Given the description of an element on the screen output the (x, y) to click on. 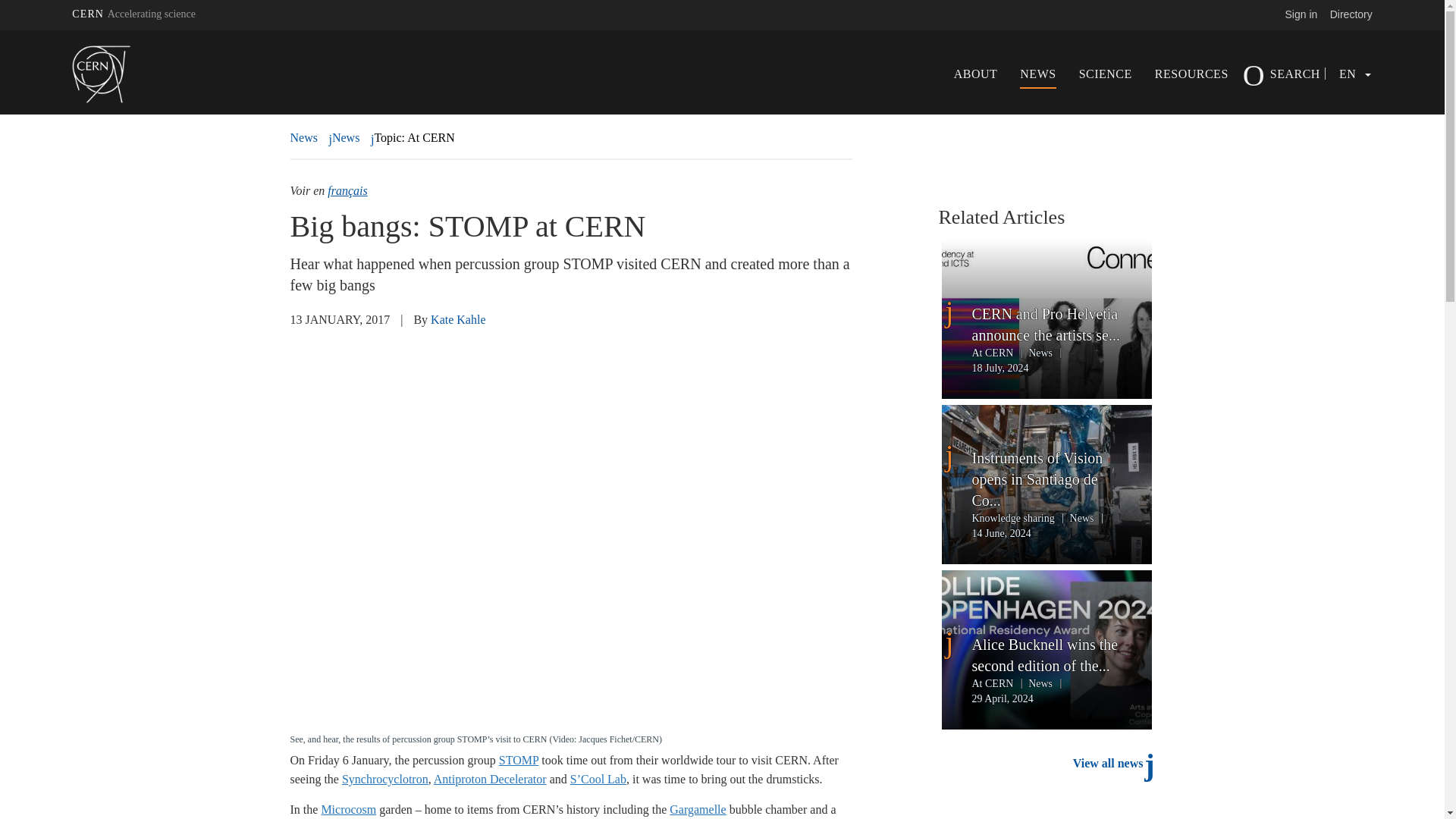
Directory (1350, 14)
CERN Accelerating science (133, 14)
Home (122, 74)
CERN (133, 14)
Search CERN resources and browse the directory (1350, 14)
Sign in (1301, 14)
